Given the description of an element on the screen output the (x, y) to click on. 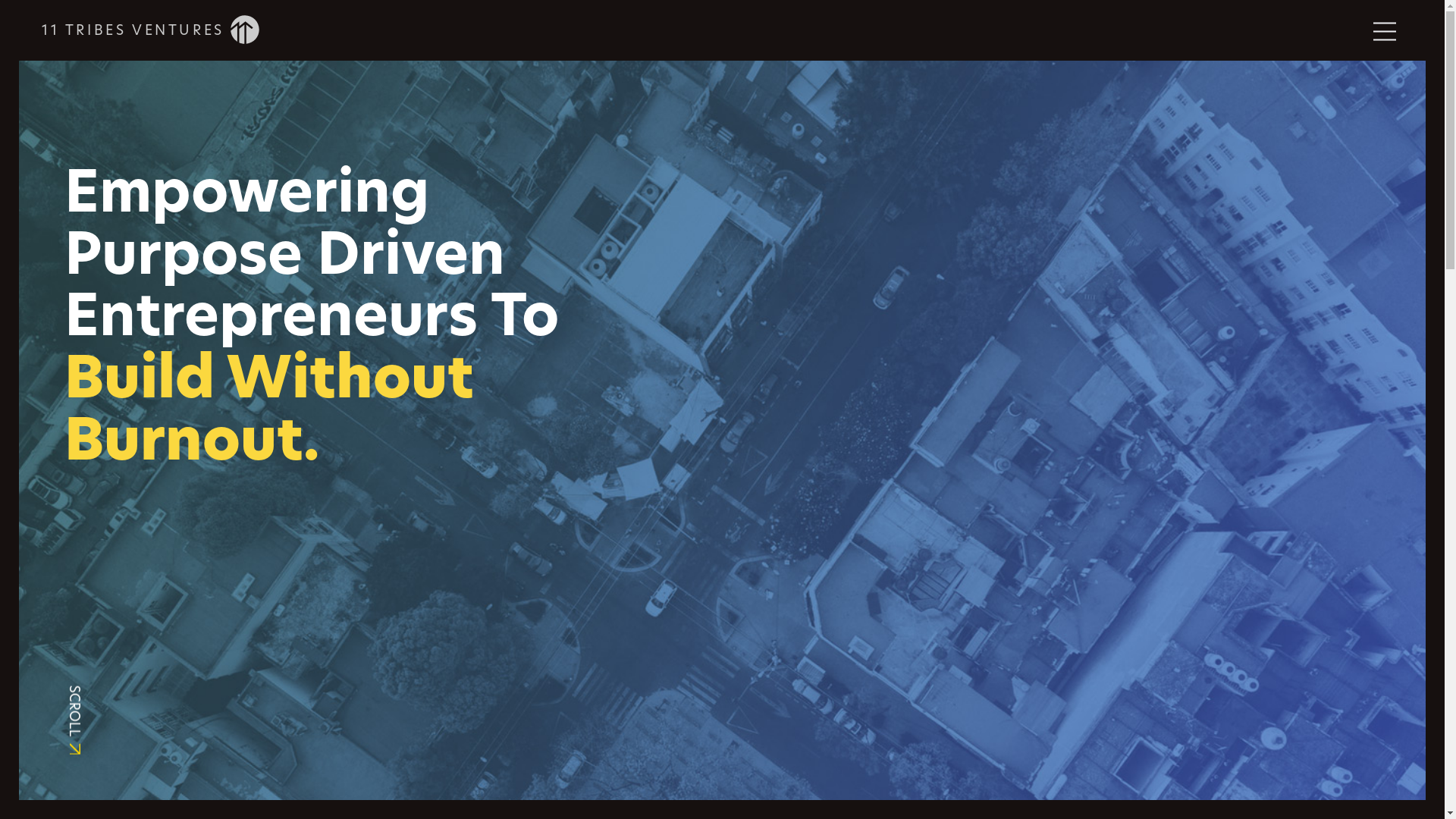
11 TRIBES VENTURES Element type: text (150, 30)
Skip to content Element type: text (18, 59)
